Given the description of an element on the screen output the (x, y) to click on. 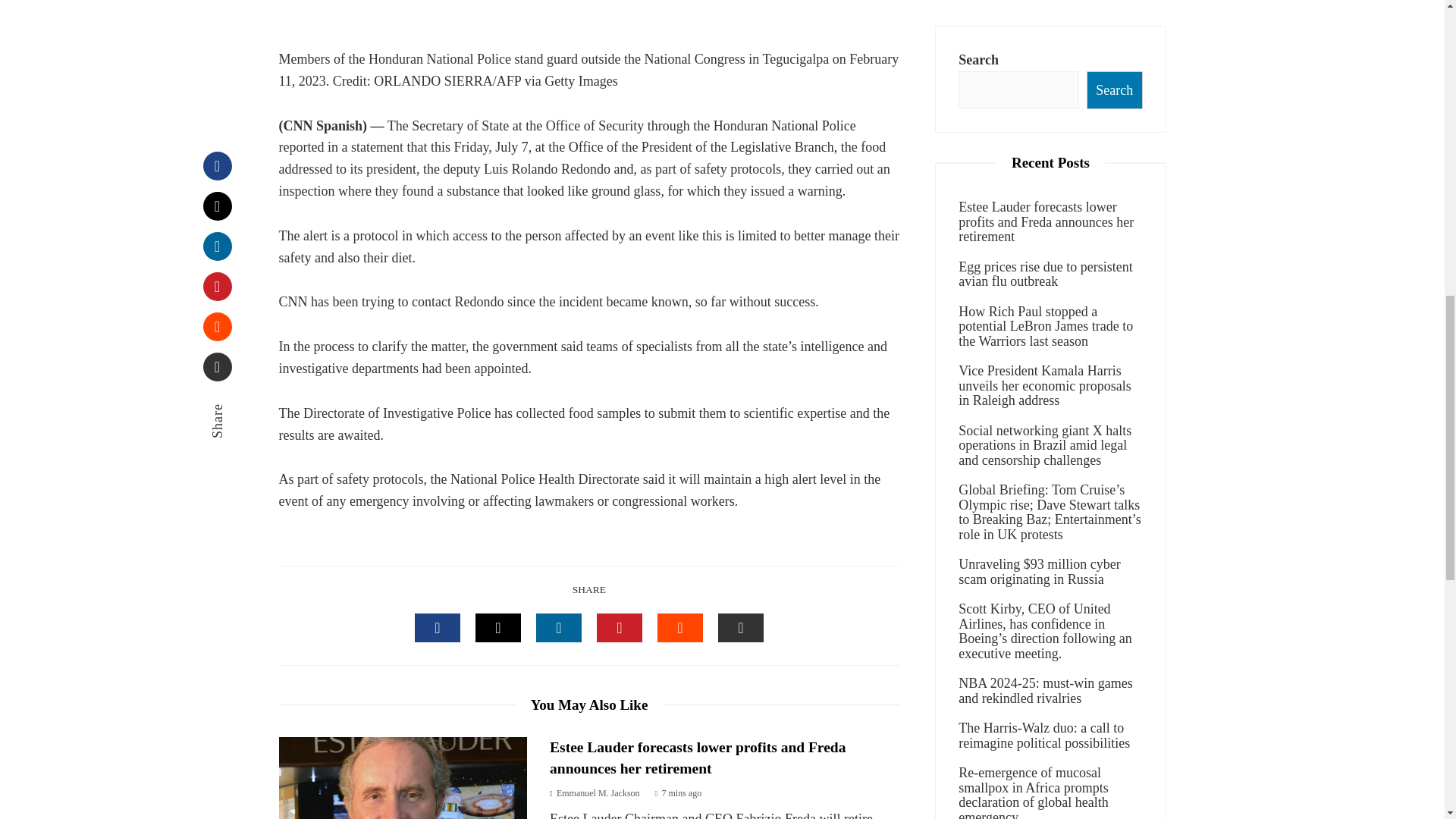
Facebook (217, 39)
TWITTER (498, 627)
Pinterest (217, 160)
Twitter (217, 80)
Stumbleupon (217, 200)
FACEBOOK (437, 627)
LinkedIn (217, 120)
Email (217, 240)
